Given the description of an element on the screen output the (x, y) to click on. 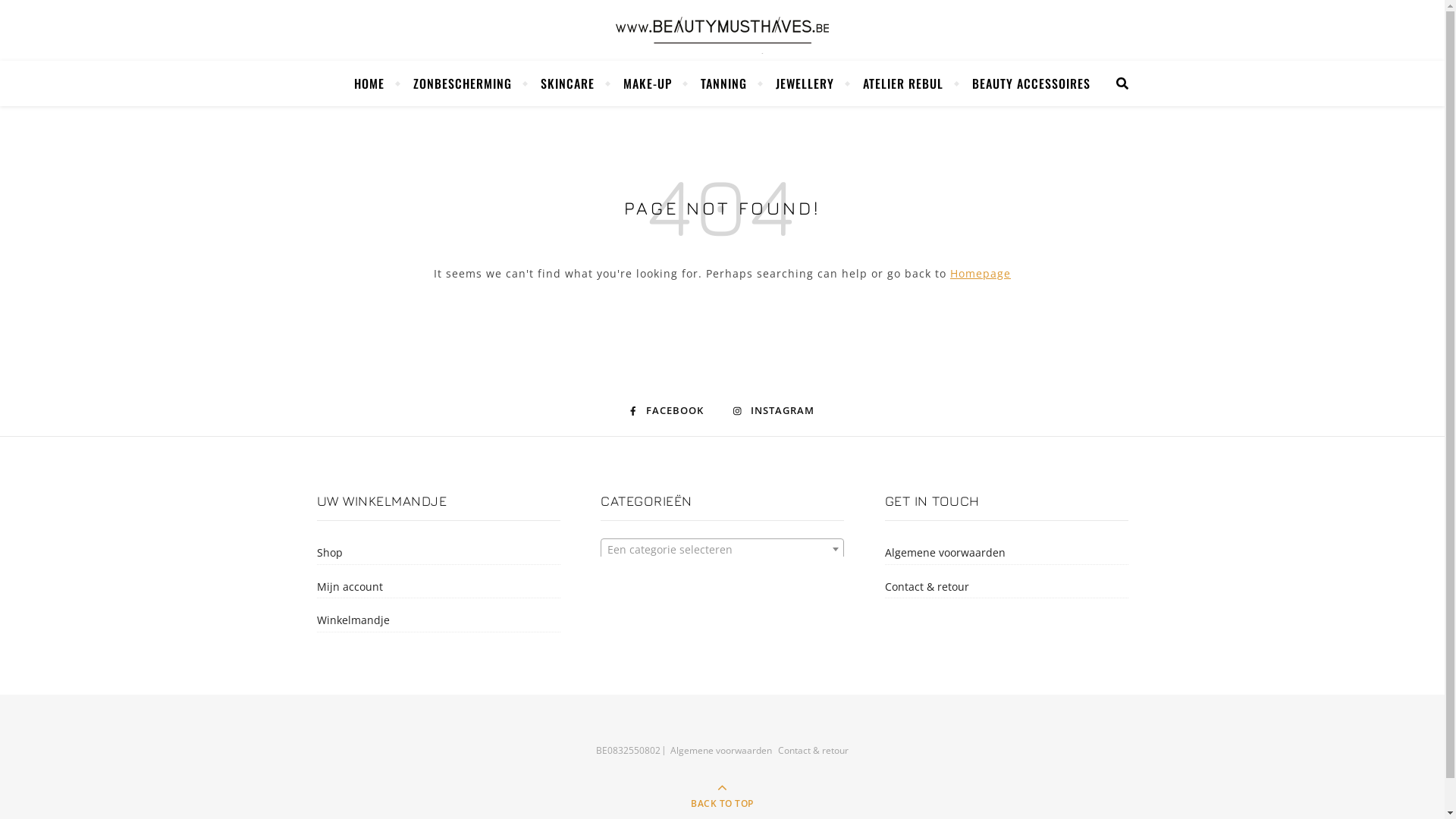
Mijn account Element type: text (438, 586)
FACEBOOK Element type: text (666, 410)
BeautyMustHaves.be Element type: hover (722, 30)
BeautyMustHaves.be Element type: hover (721, 30)
Shop Element type: text (438, 552)
Winkelmandje Element type: text (438, 619)
MAKE-UP Element type: text (647, 83)
HOME Element type: text (375, 83)
ZONBESCHERMING Element type: text (462, 83)
TANNING Element type: text (723, 83)
Contact & retour Element type: text (1005, 586)
Algemene voorwaarden Element type: text (1005, 552)
SKINCARE Element type: text (567, 83)
Homepage Element type: text (980, 273)
Algemene voorwaarden Element type: text (720, 749)
BEAUTY ACCESSOIRES Element type: text (1024, 83)
INSTAGRAM Element type: text (773, 410)
JEWELLERY Element type: text (804, 83)
ATELIER REBUL Element type: text (903, 83)
Contact & retour Element type: text (813, 749)
